Given the description of an element on the screen output the (x, y) to click on. 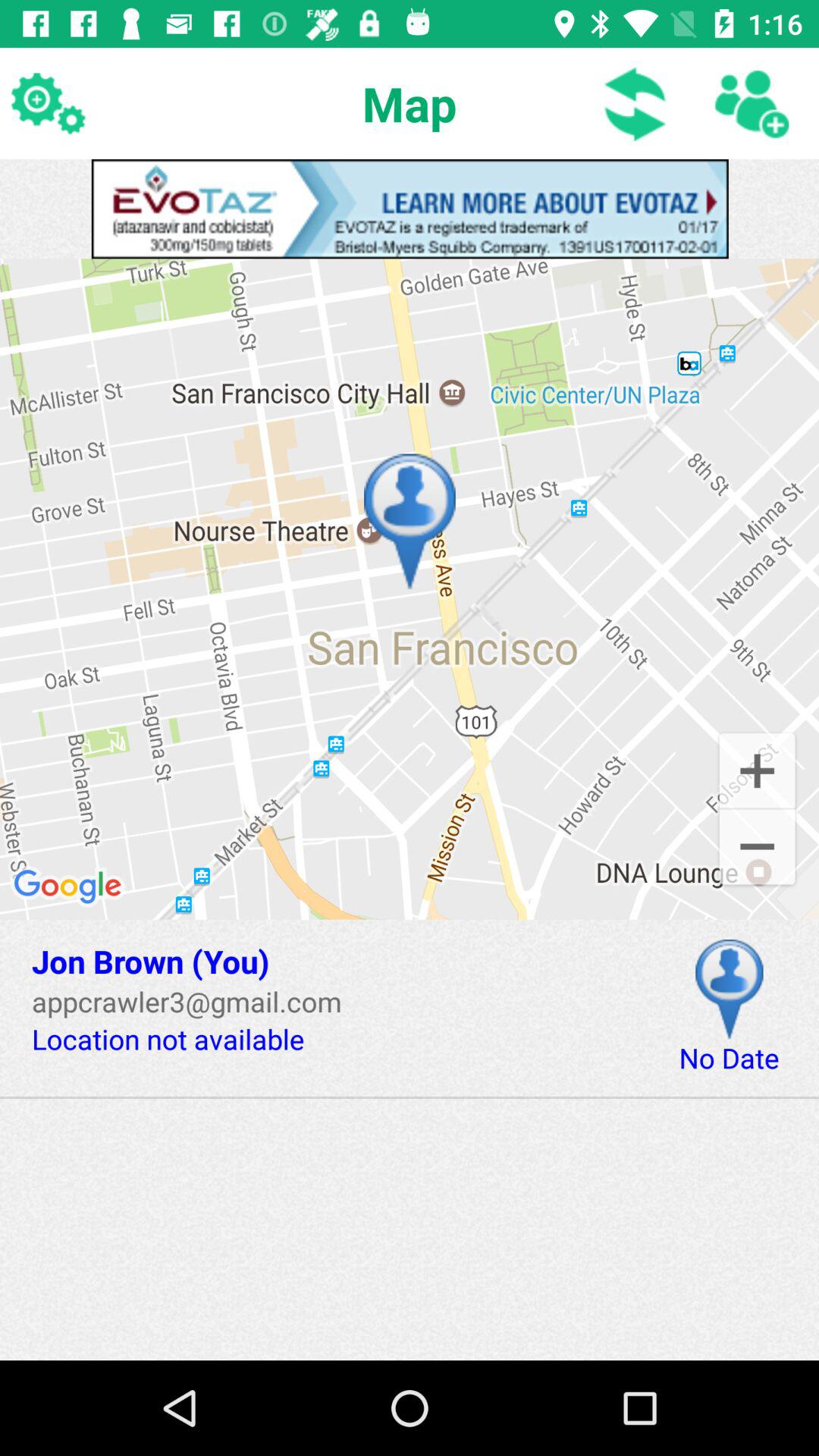
connect to friends (751, 103)
